Given the description of an element on the screen output the (x, y) to click on. 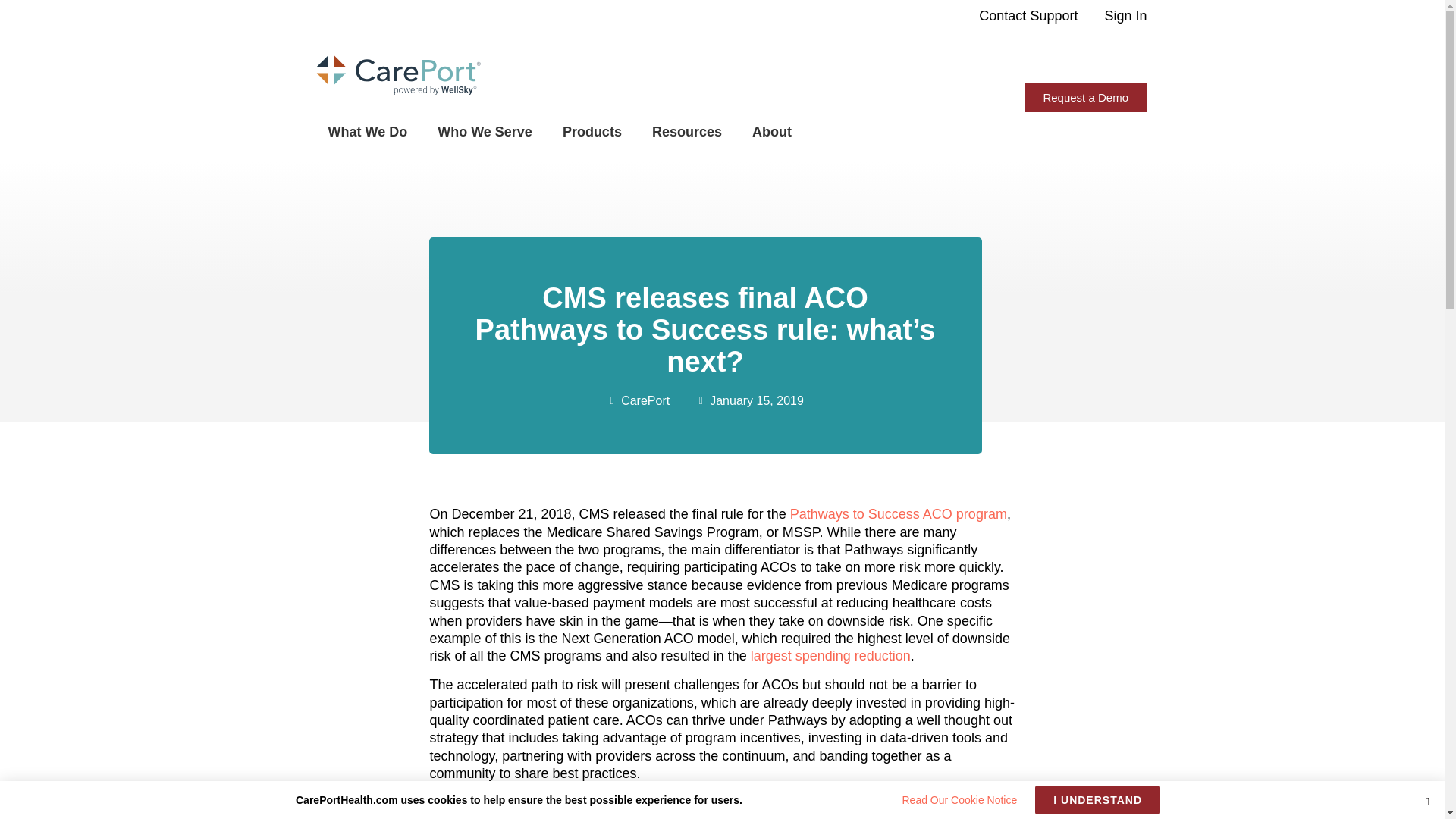
Sign In (1125, 15)
Contact (1002, 15)
Support  (1055, 15)
